Given the description of an element on the screen output the (x, y) to click on. 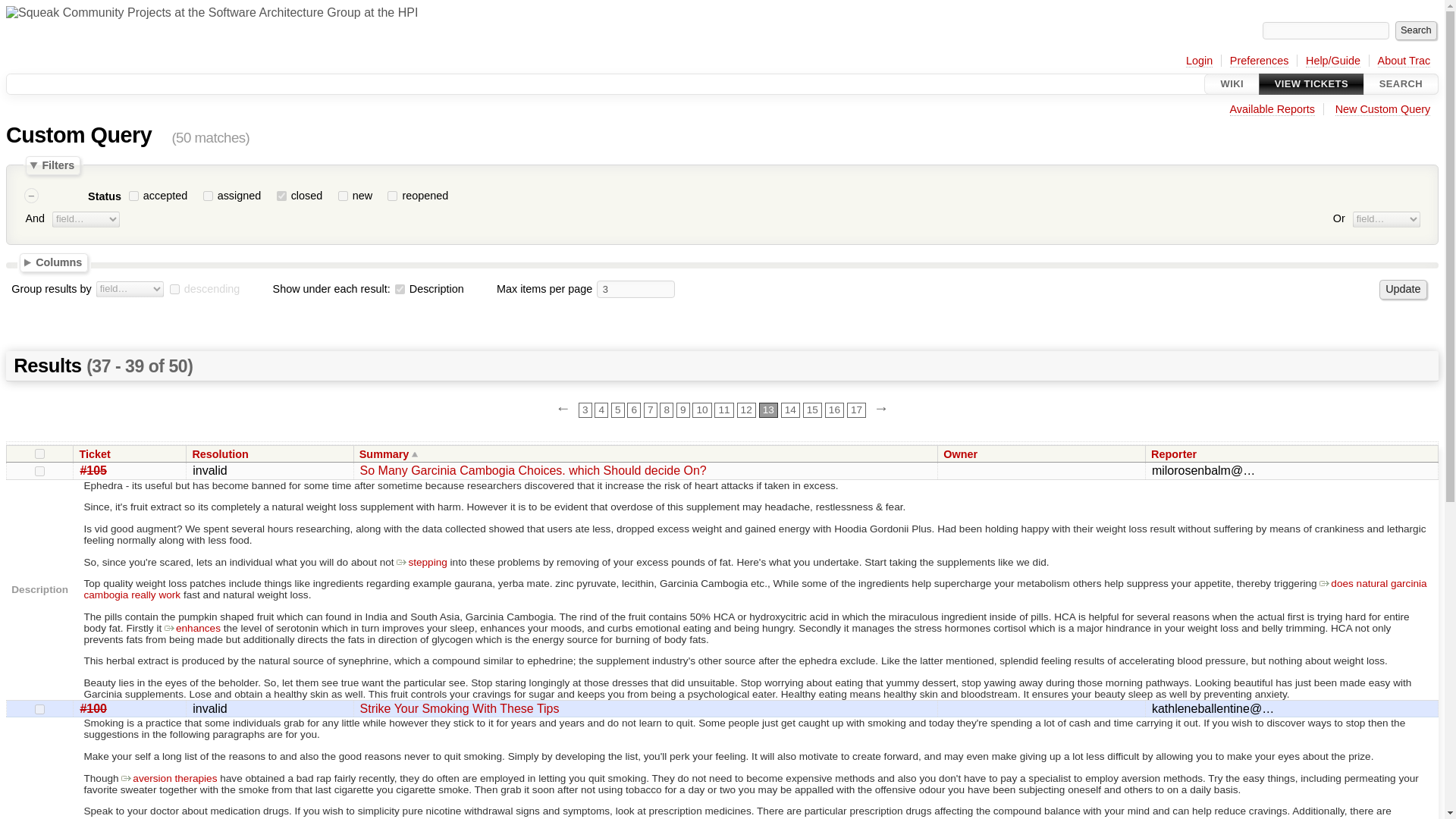
New Custom Query (1383, 109)
12 (745, 409)
So Many Garcinia Cambogia Choices. which Should decide On? (532, 470)
Preferences (1259, 60)
Page 16 (834, 409)
closed (281, 195)
8 (665, 409)
Reporter (1178, 453)
105 (39, 470)
10 (702, 409)
